Given the description of an element on the screen output the (x, y) to click on. 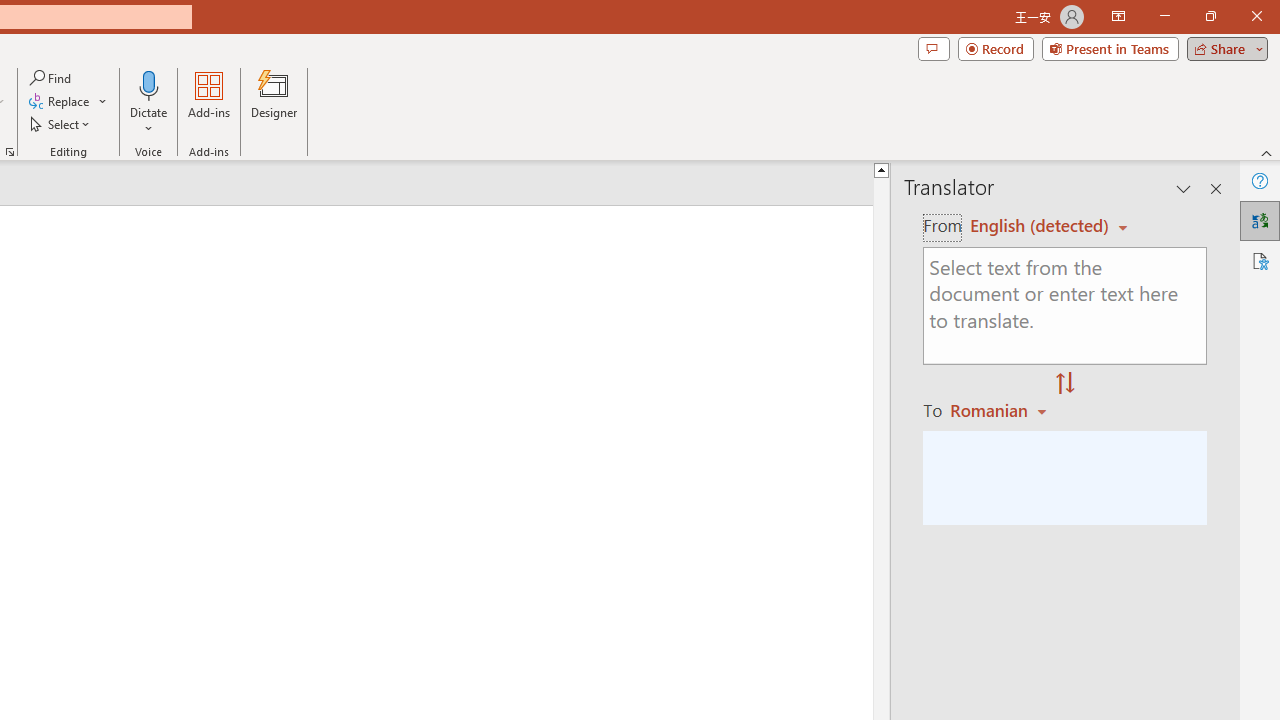
Romanian (1001, 409)
Czech (detected) (1039, 225)
